Given the description of an element on the screen output the (x, y) to click on. 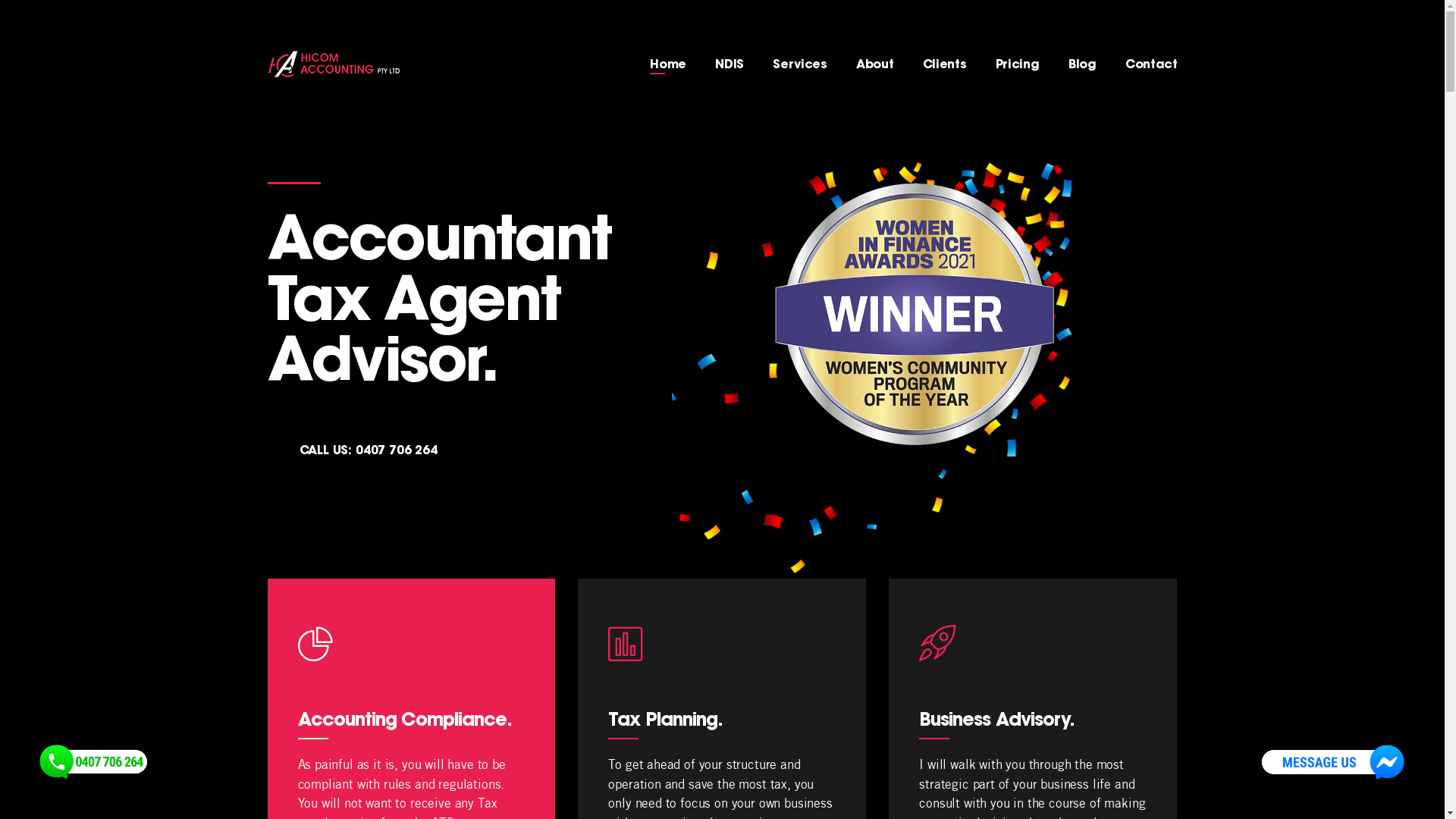
Pricing Element type: text (1017, 65)
Services Element type: text (799, 65)
Clients Element type: text (944, 65)
  Element type: text (376, 64)
CALL US: 0407 706 264 Element type: text (367, 449)
Contact Element type: text (1151, 65)
About Element type: text (874, 65)
NDIS Element type: text (729, 65)
Home Element type: text (667, 65)
Blog Element type: text (1082, 65)
